Given the description of an element on the screen output the (x, y) to click on. 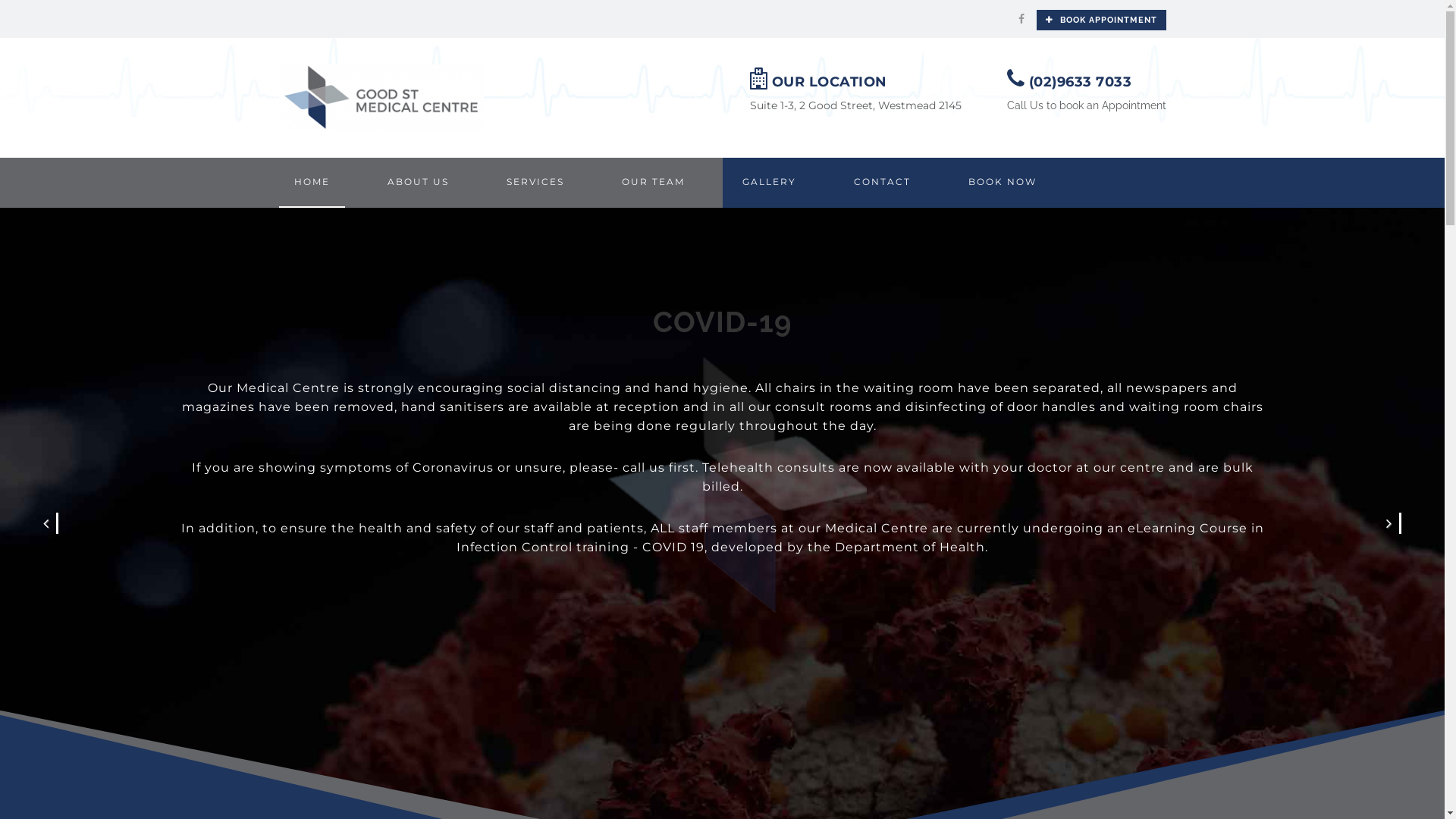
BOOK NOW Element type: text (1001, 182)
BOOK APPOINTMENT Element type: text (1100, 20)
HOME Element type: text (312, 182)
ABOUT US Element type: text (417, 182)
OUR TEAM Element type: text (652, 182)
GALLERY Element type: text (768, 182)
SERVICES Element type: text (535, 182)
CONTACT Element type: text (881, 182)
Facebook Element type: hover (1020, 18)
